Given the description of an element on the screen output the (x, y) to click on. 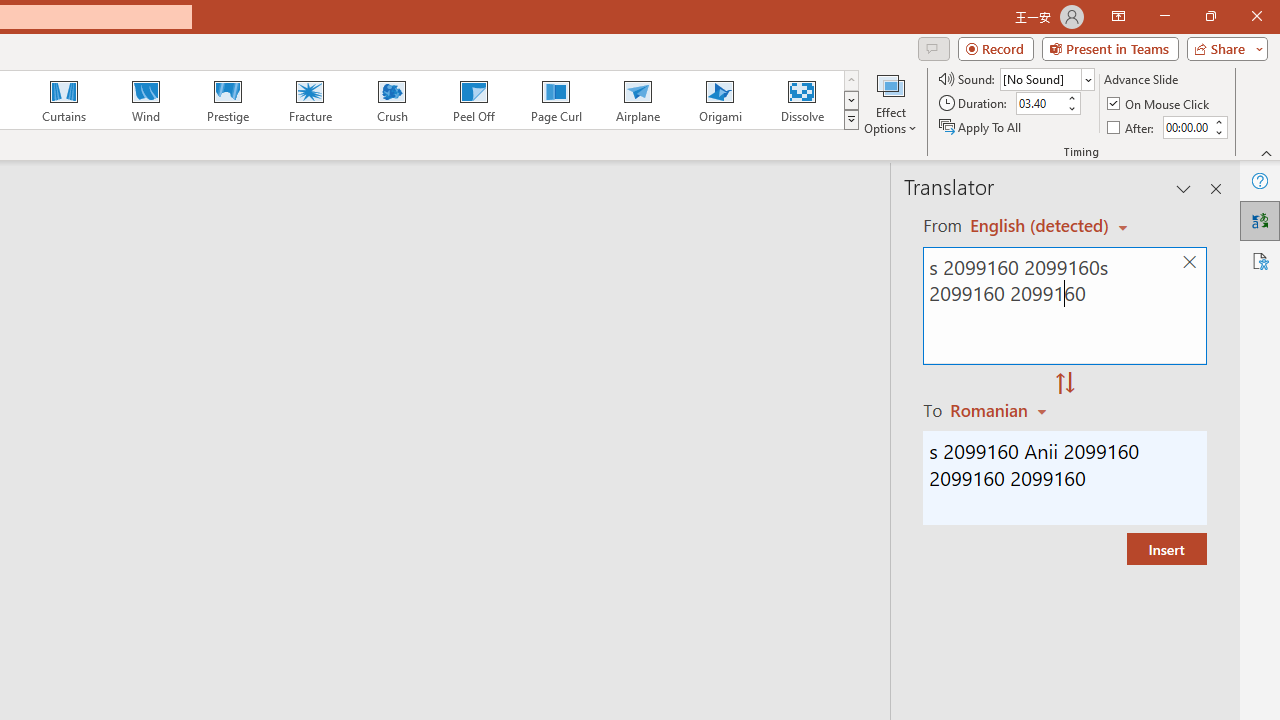
Clear text (1189, 262)
Prestige (227, 100)
Origami (719, 100)
After (1131, 126)
